Given the description of an element on the screen output the (x, y) to click on. 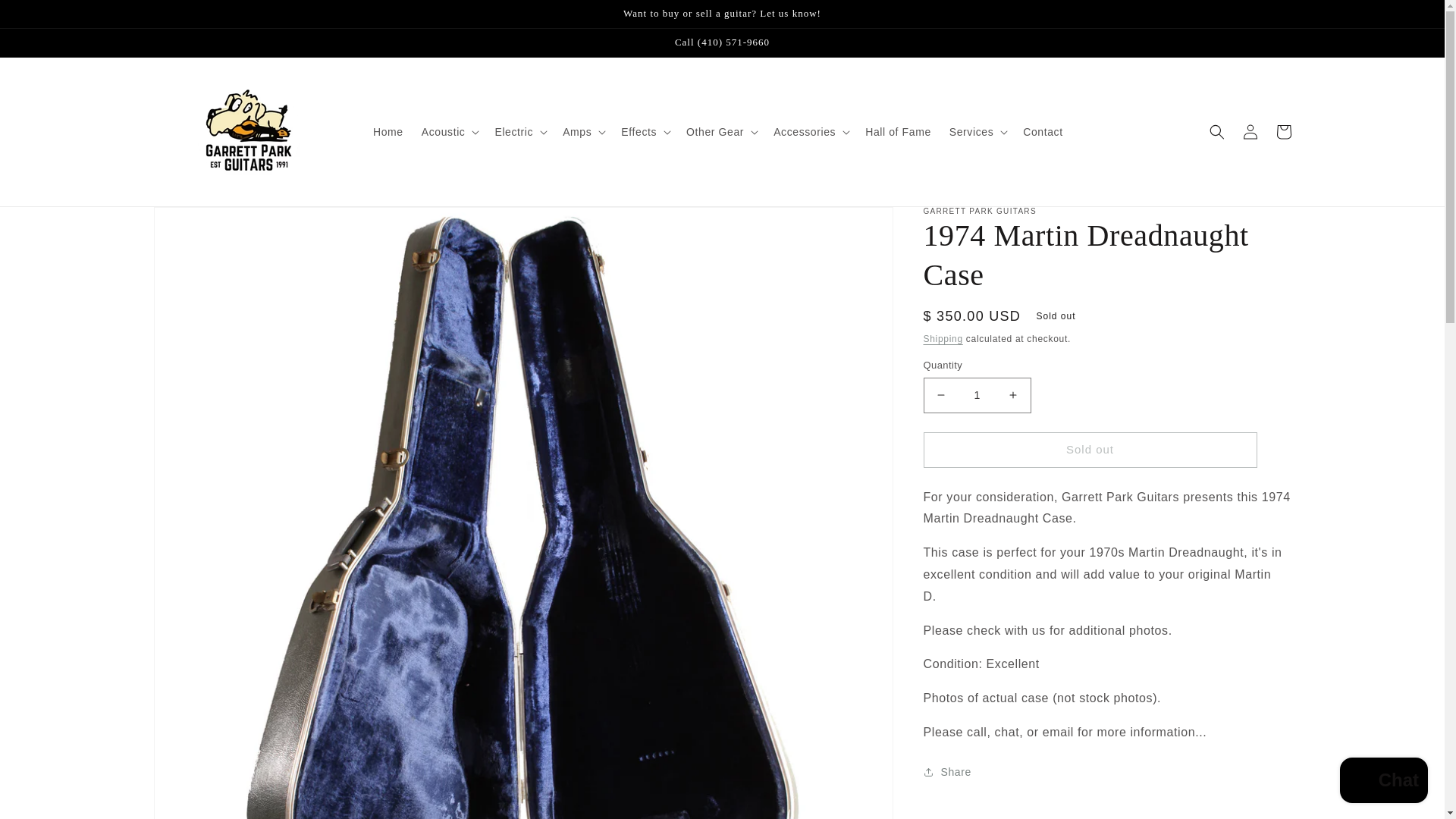
Skip to content (45, 17)
1 (976, 395)
Shopify online store chat (1383, 781)
